Given the description of an element on the screen output the (x, y) to click on. 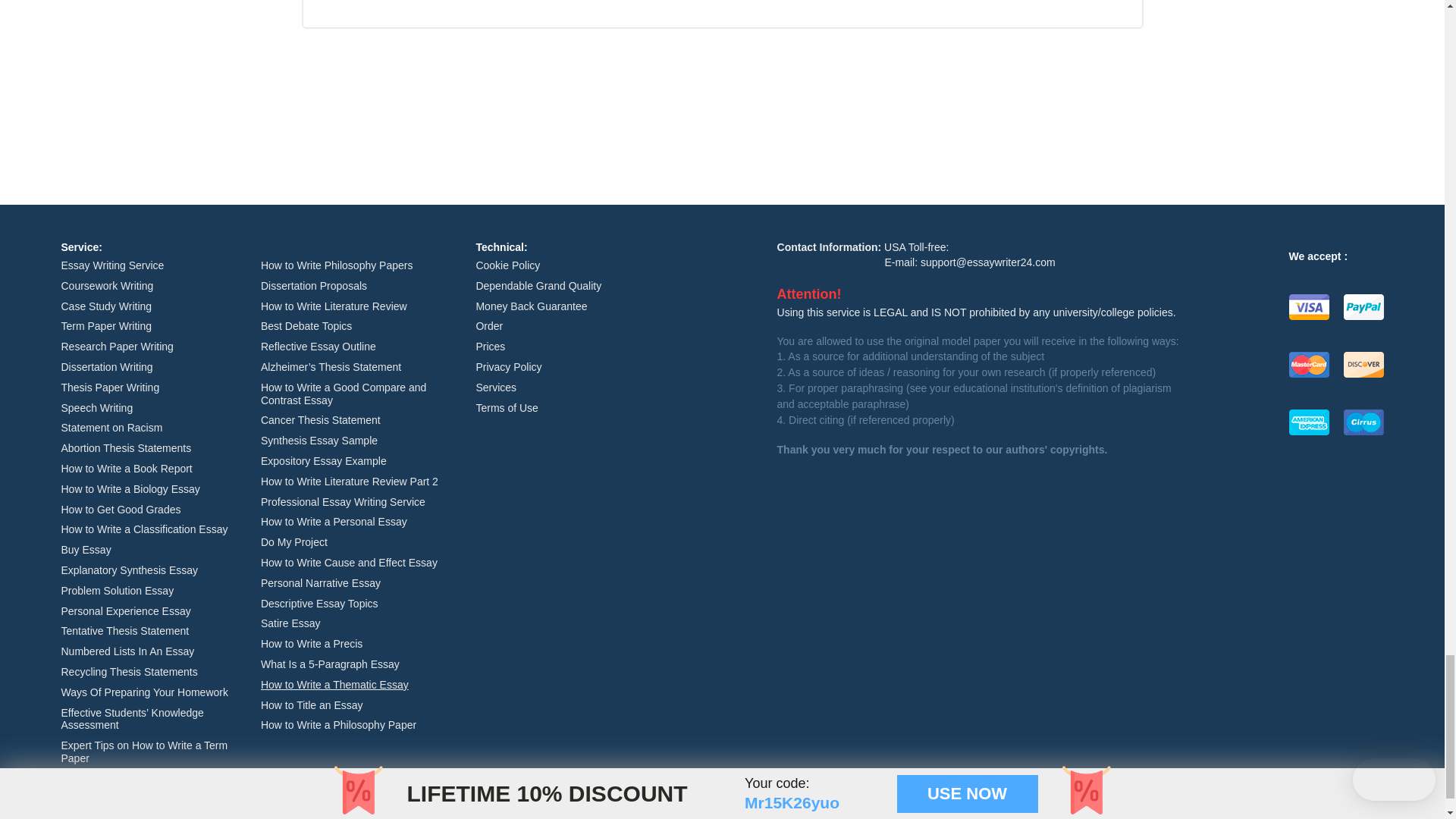
How to Write a Biology Essay (130, 489)
Coursework Writing (106, 285)
Best Debate Topics (306, 326)
How to Write Literature Review (333, 306)
Case Study Writing (106, 306)
Synthesis Essay Sample (318, 440)
How to Write Philosophy Papers (336, 265)
Dissertation Proposals (313, 285)
Research Paper Writing (117, 346)
Reflective Essay Outline (317, 346)
Essay Writing Service (112, 265)
Term Paper Writing (106, 326)
Numbered Lists In An Essay (127, 651)
Abortion Thesis Statements (125, 448)
Expert Tips on How to Write a Term Paper (144, 751)
